Given the description of an element on the screen output the (x, y) to click on. 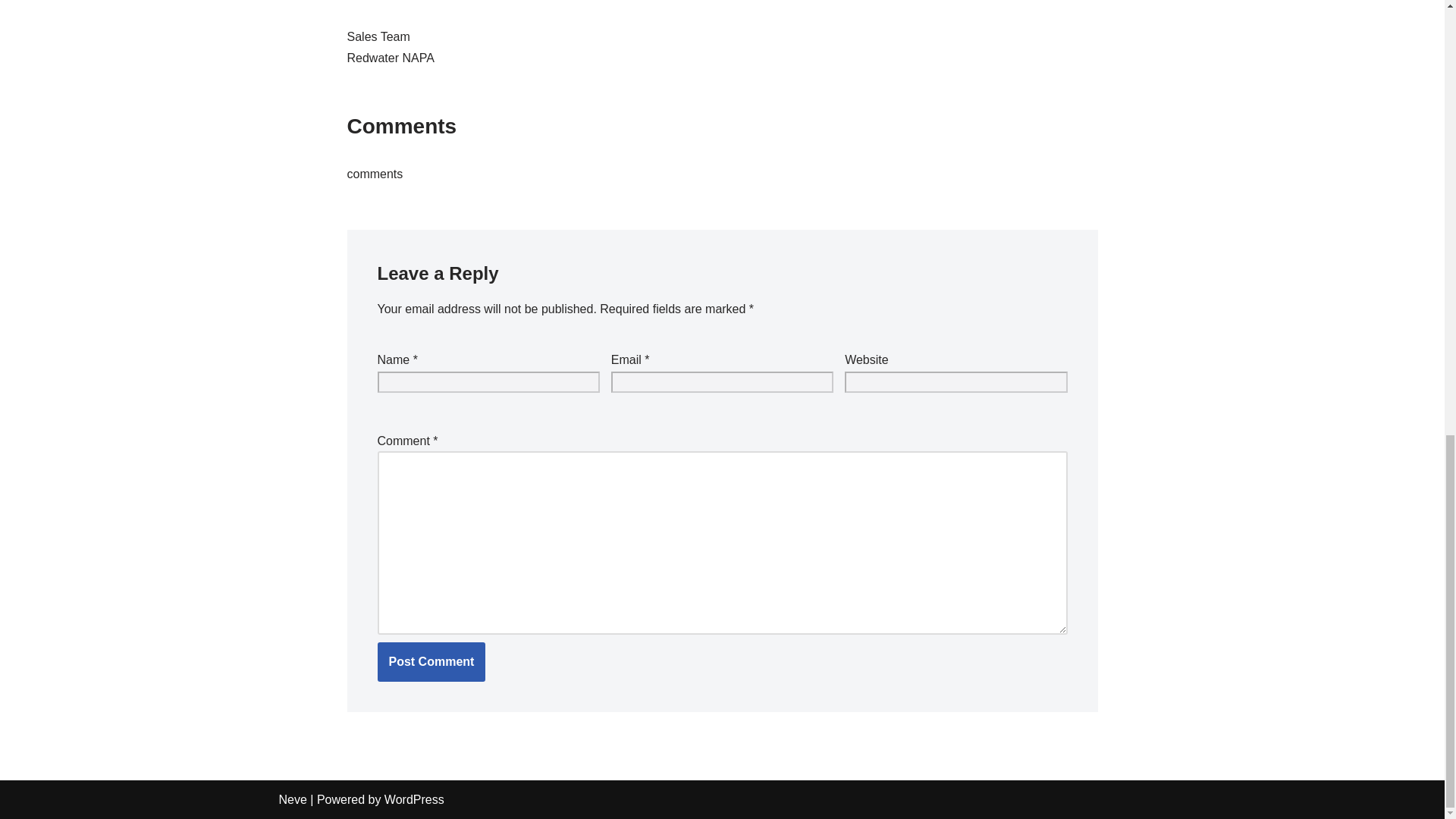
Post Comment (431, 661)
WordPress (414, 799)
Post Comment (431, 661)
Neve (293, 799)
